Given the description of an element on the screen output the (x, y) to click on. 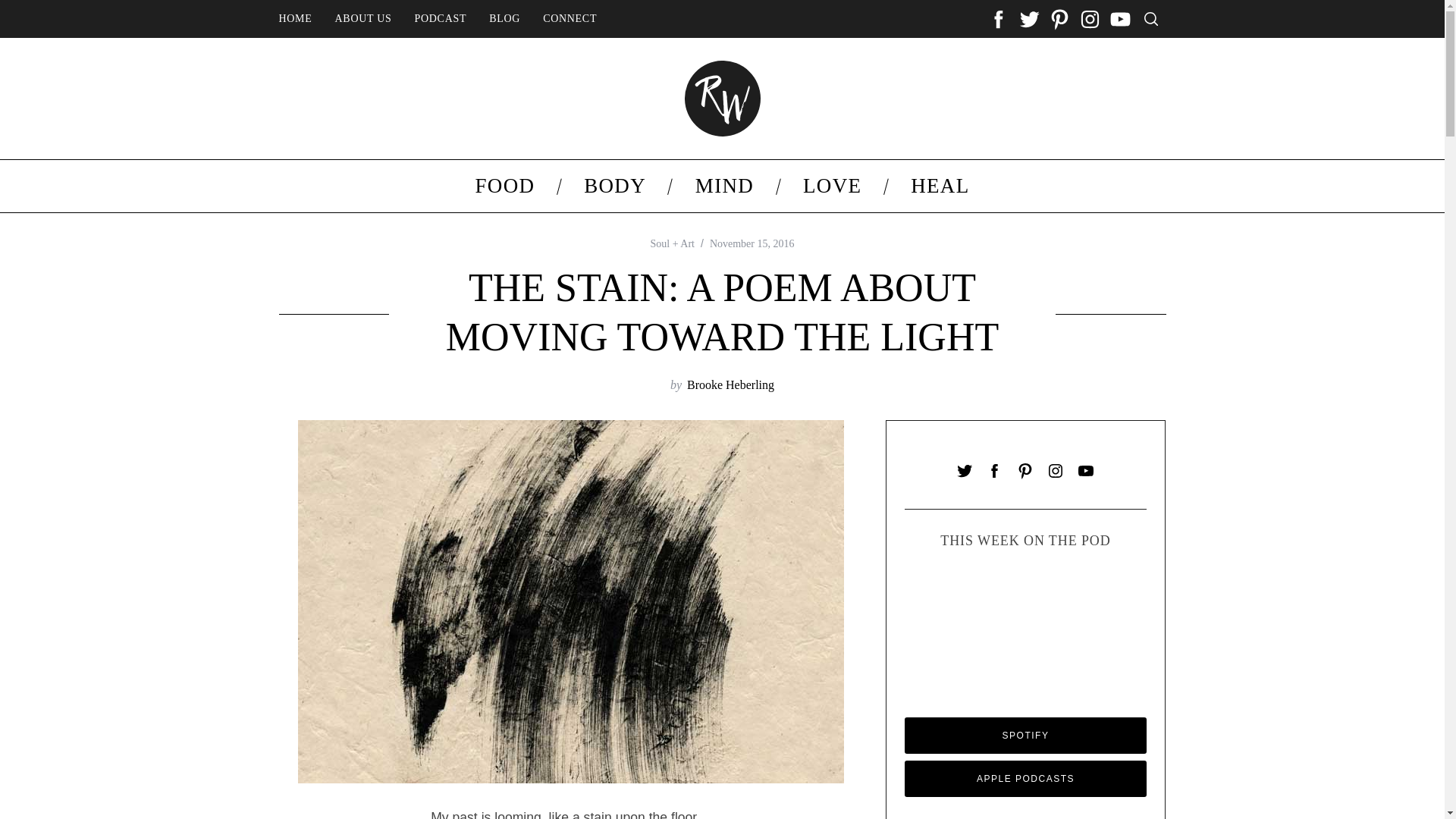
PODCAST (441, 19)
ABOUT US (363, 19)
MIND (723, 185)
BLOG (504, 19)
LOVE (832, 185)
HOME (294, 19)
CONNECT (569, 19)
FOOD (504, 185)
BODY (615, 185)
